Given the description of an element on the screen output the (x, y) to click on. 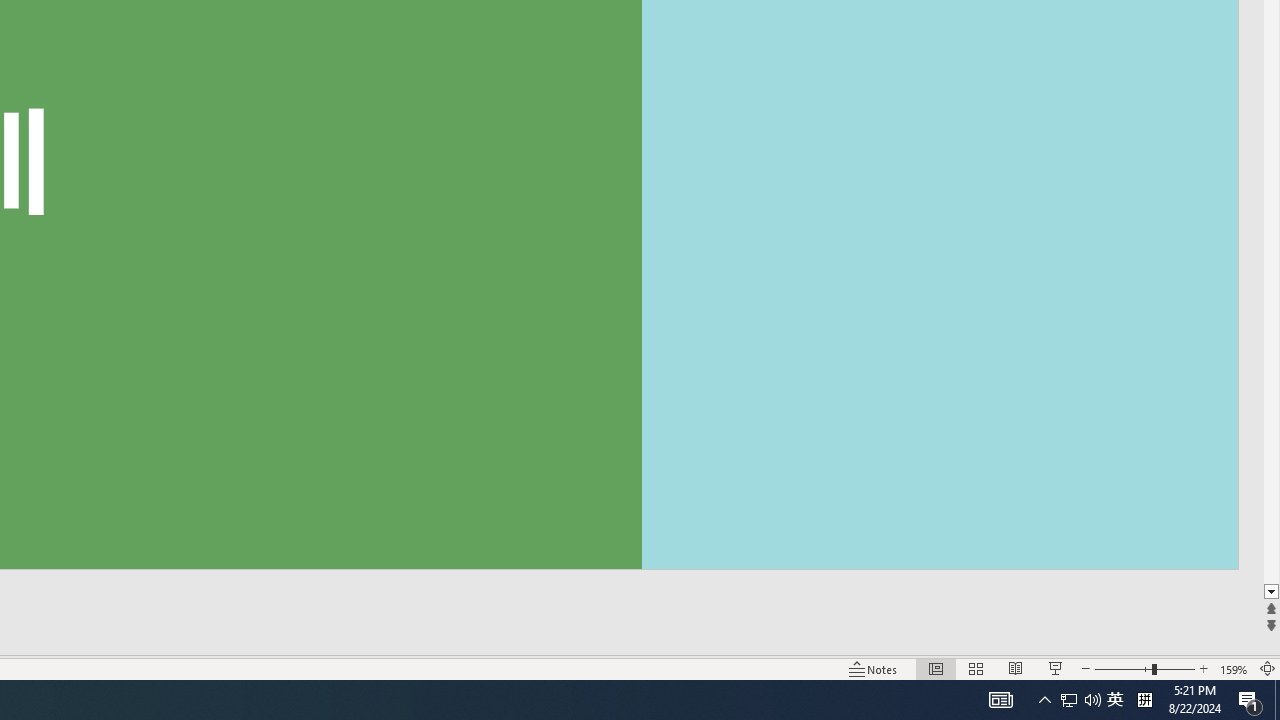
Zoom 159% (1234, 668)
